Given the description of an element on the screen output the (x, y) to click on. 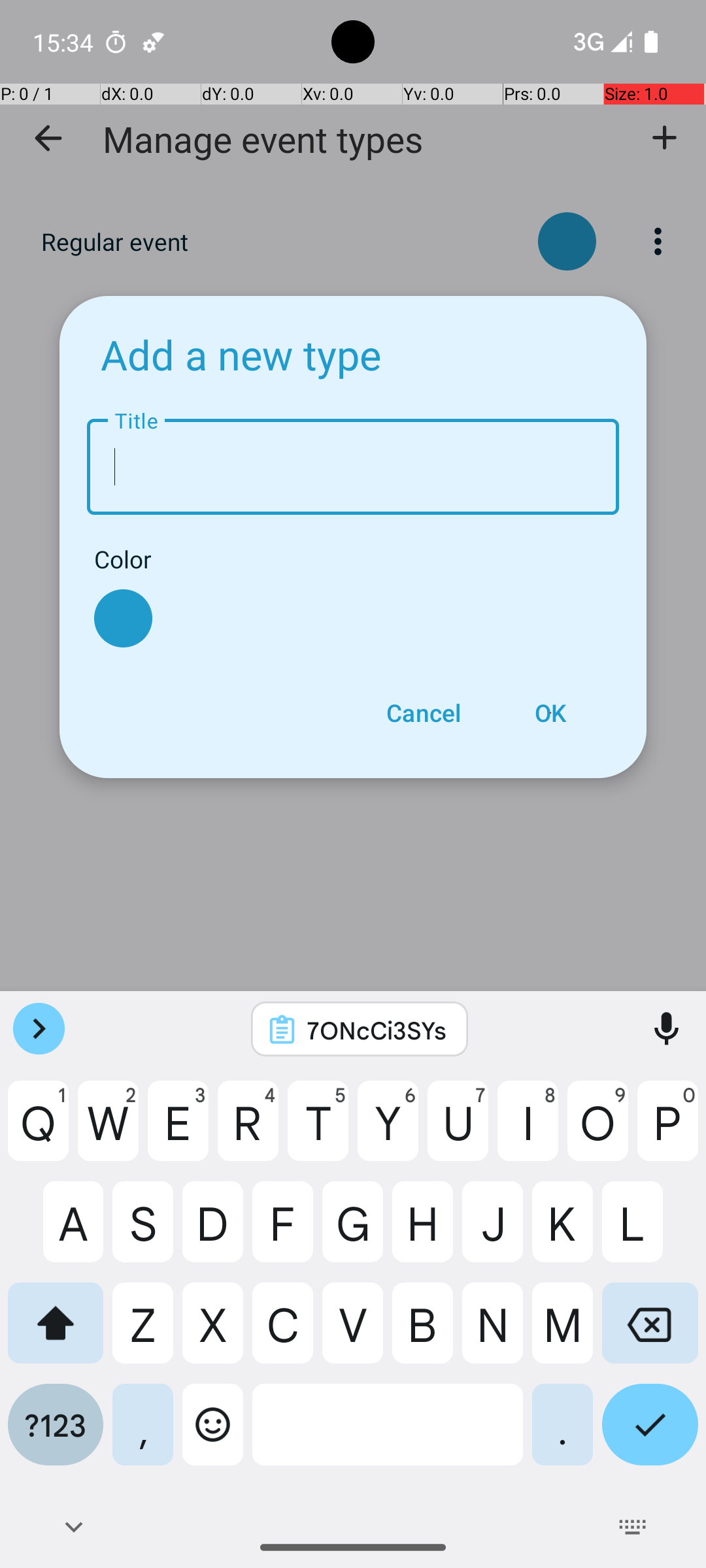
7ONcCi3SYs Element type: android.widget.TextView (376, 1029)
